Given the description of an element on the screen output the (x, y) to click on. 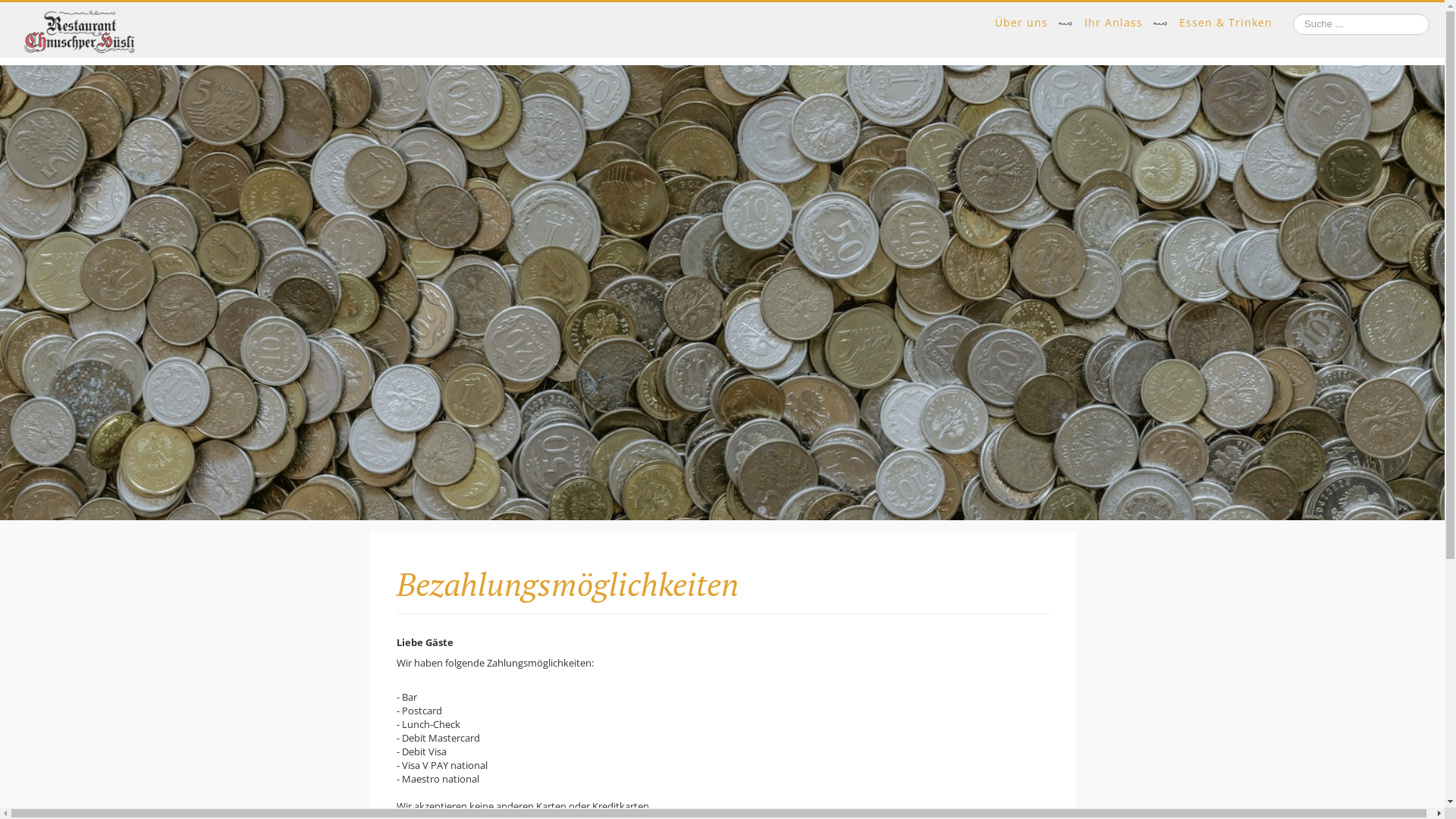
Ihr Anlass Element type: text (1113, 22)
Essen & Trinken Element type: text (1225, 22)
